Given the description of an element on the screen output the (x, y) to click on. 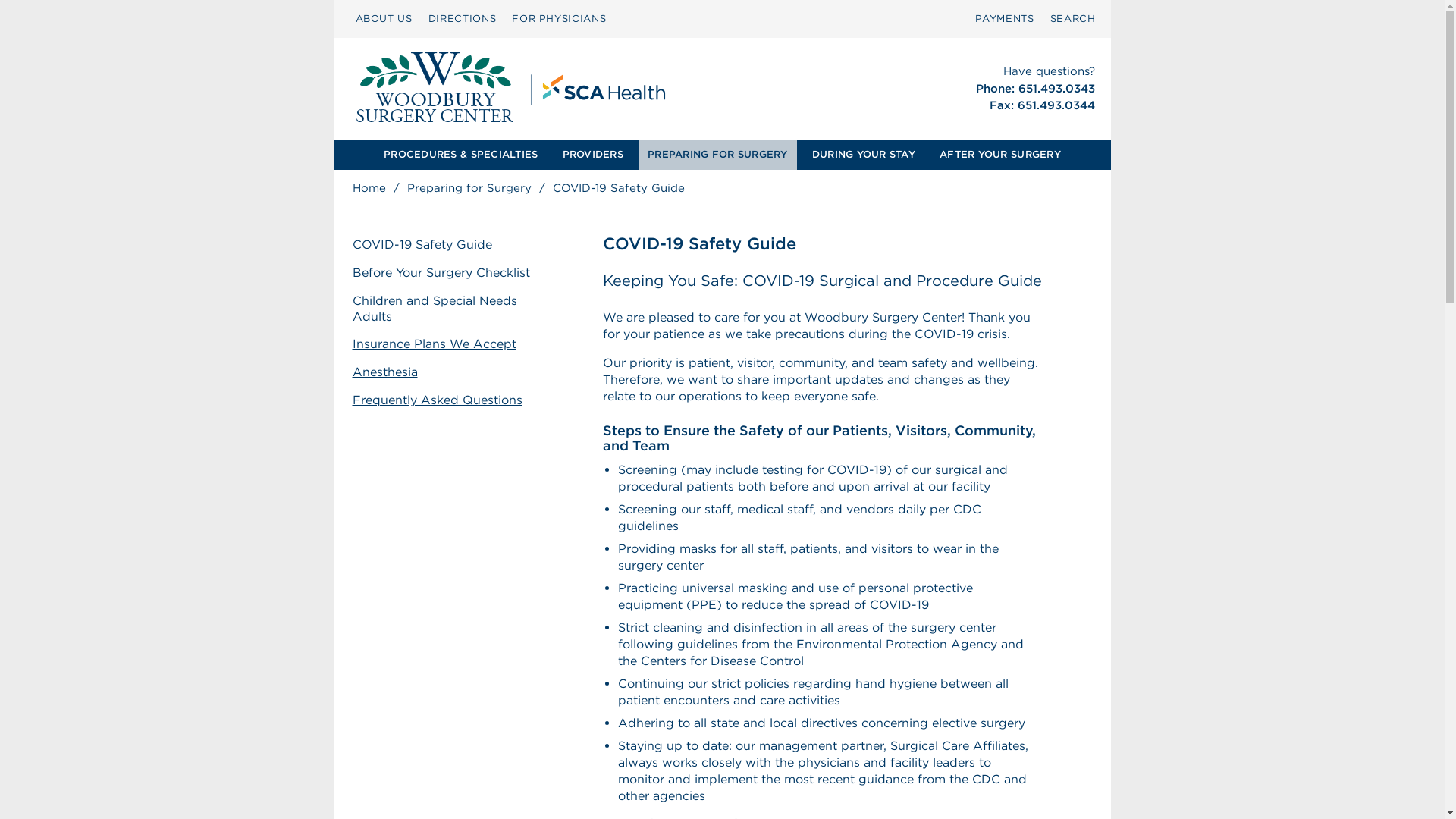
FOR PHYSICIANS (558, 18)
Frequently Asked Questions (452, 400)
DURING YOUR STAY (863, 154)
SEARCH (1072, 18)
PAYMENTS (1004, 18)
PROVIDERS (592, 154)
Anesthesia (452, 372)
COVID-19 Safety Guide (452, 245)
Children and Special Needs Adults (452, 309)
ABOUT US (383, 18)
Home (369, 187)
Before Your Surgery Checklist (452, 273)
Insurance Plans We Accept (452, 344)
DIRECTIONS (462, 18)
Preparing for Surgery (469, 187)
